Given the description of an element on the screen output the (x, y) to click on. 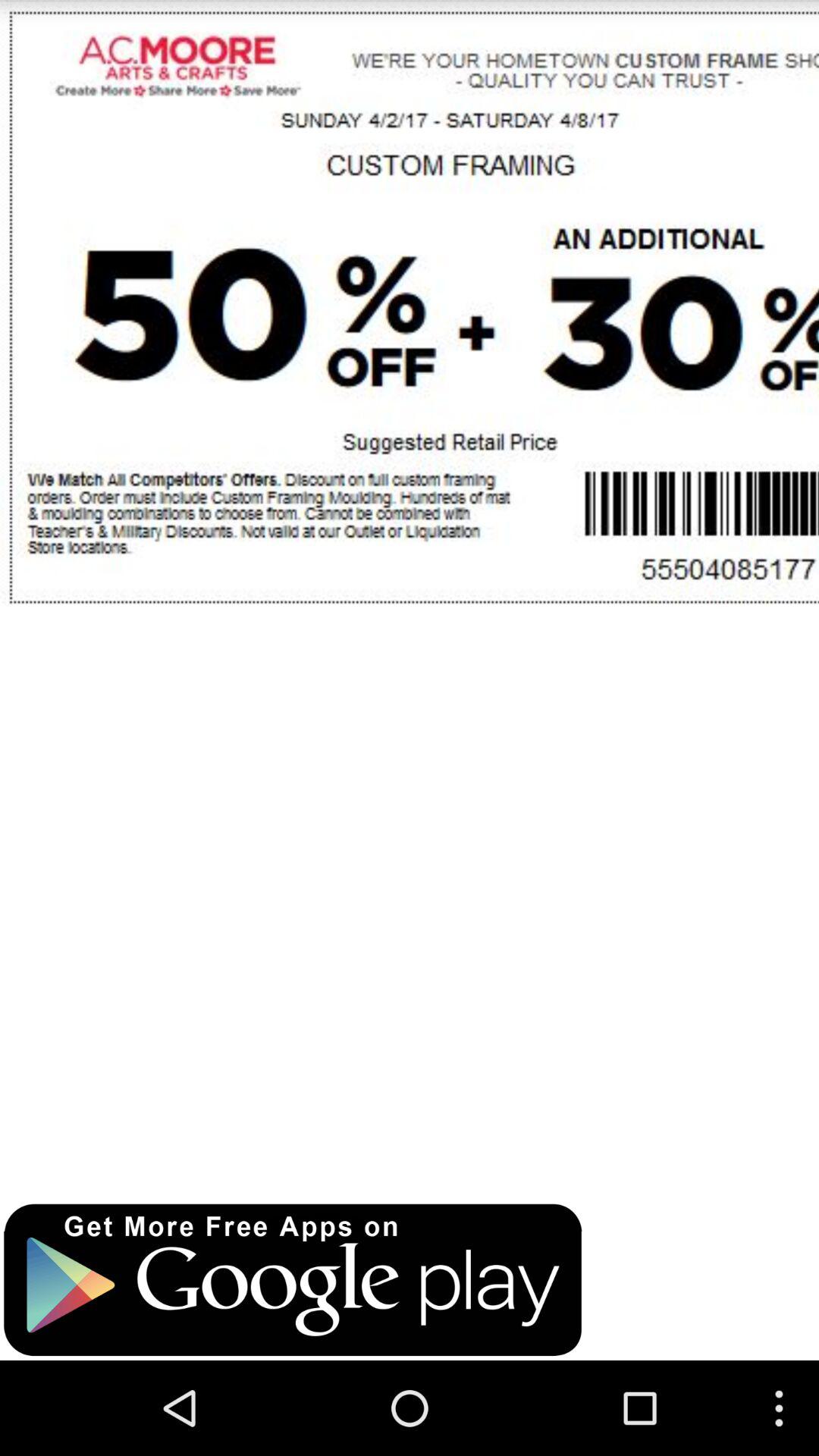
total page (409, 594)
